Given the description of an element on the screen output the (x, y) to click on. 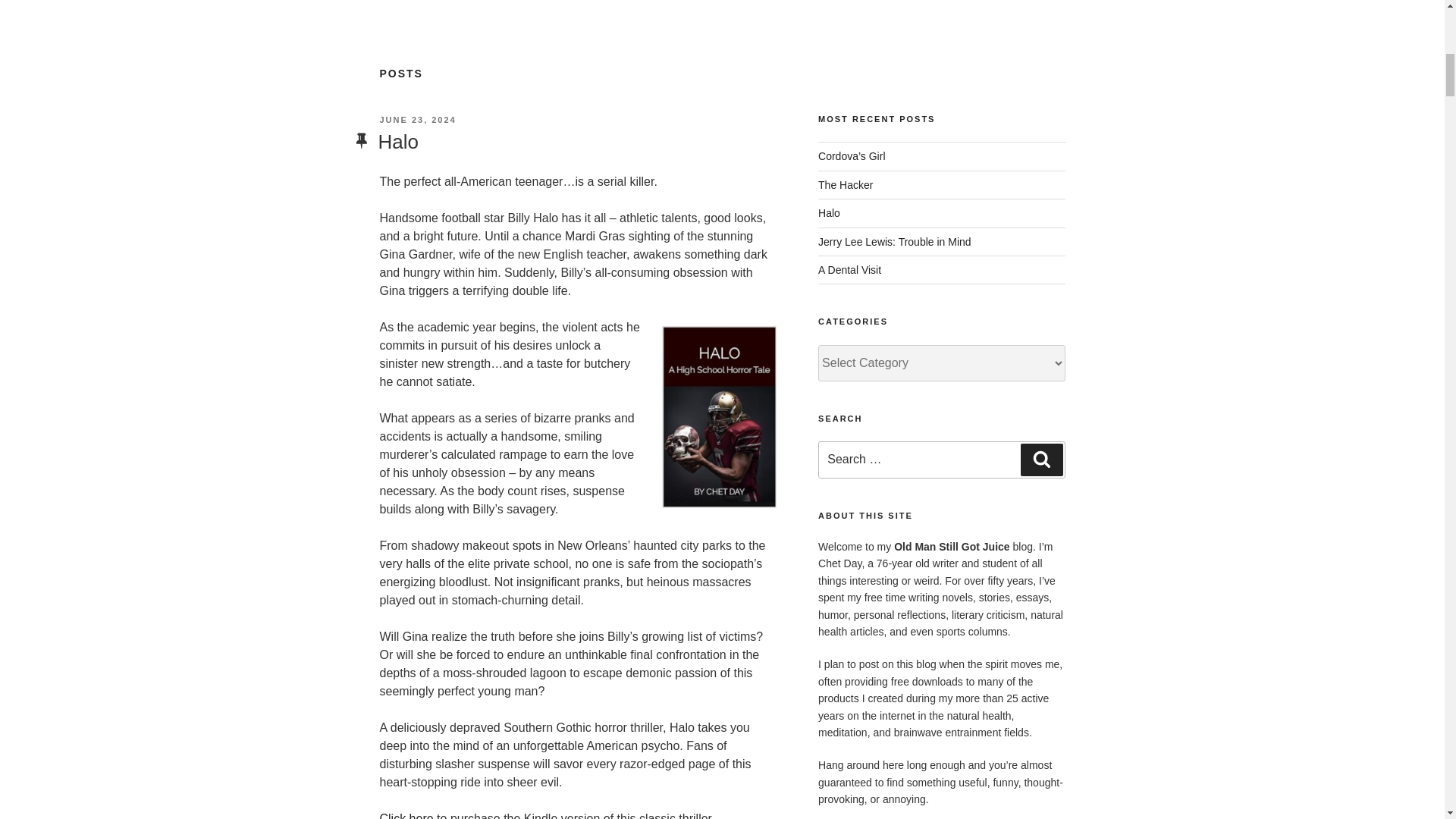
The Hacker (845, 184)
Click here (405, 815)
JUNE 23, 2024 (416, 119)
Halo (397, 141)
